Given the description of an element on the screen output the (x, y) to click on. 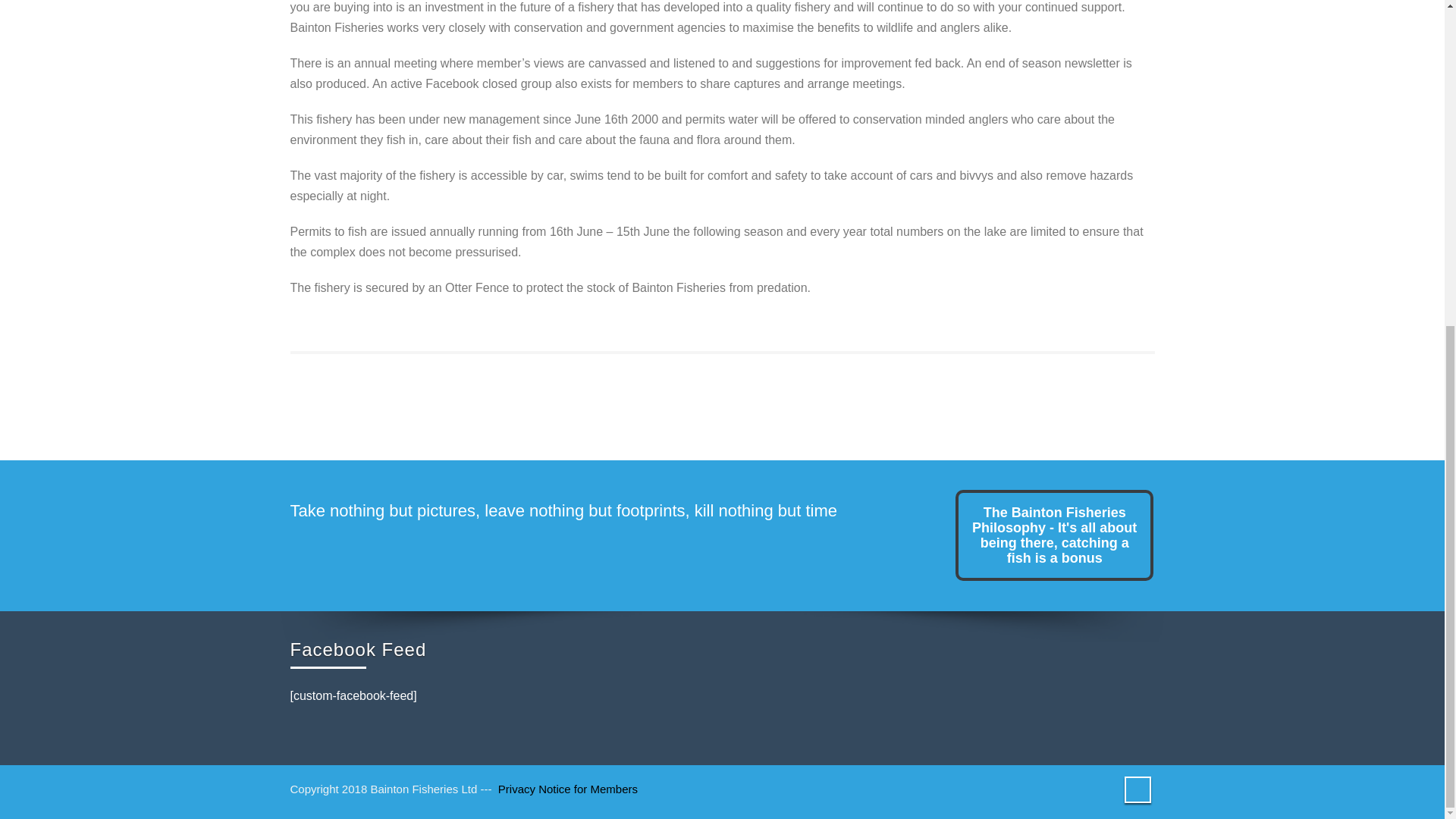
Privacy Notice for Members (567, 788)
